Given the description of an element on the screen output the (x, y) to click on. 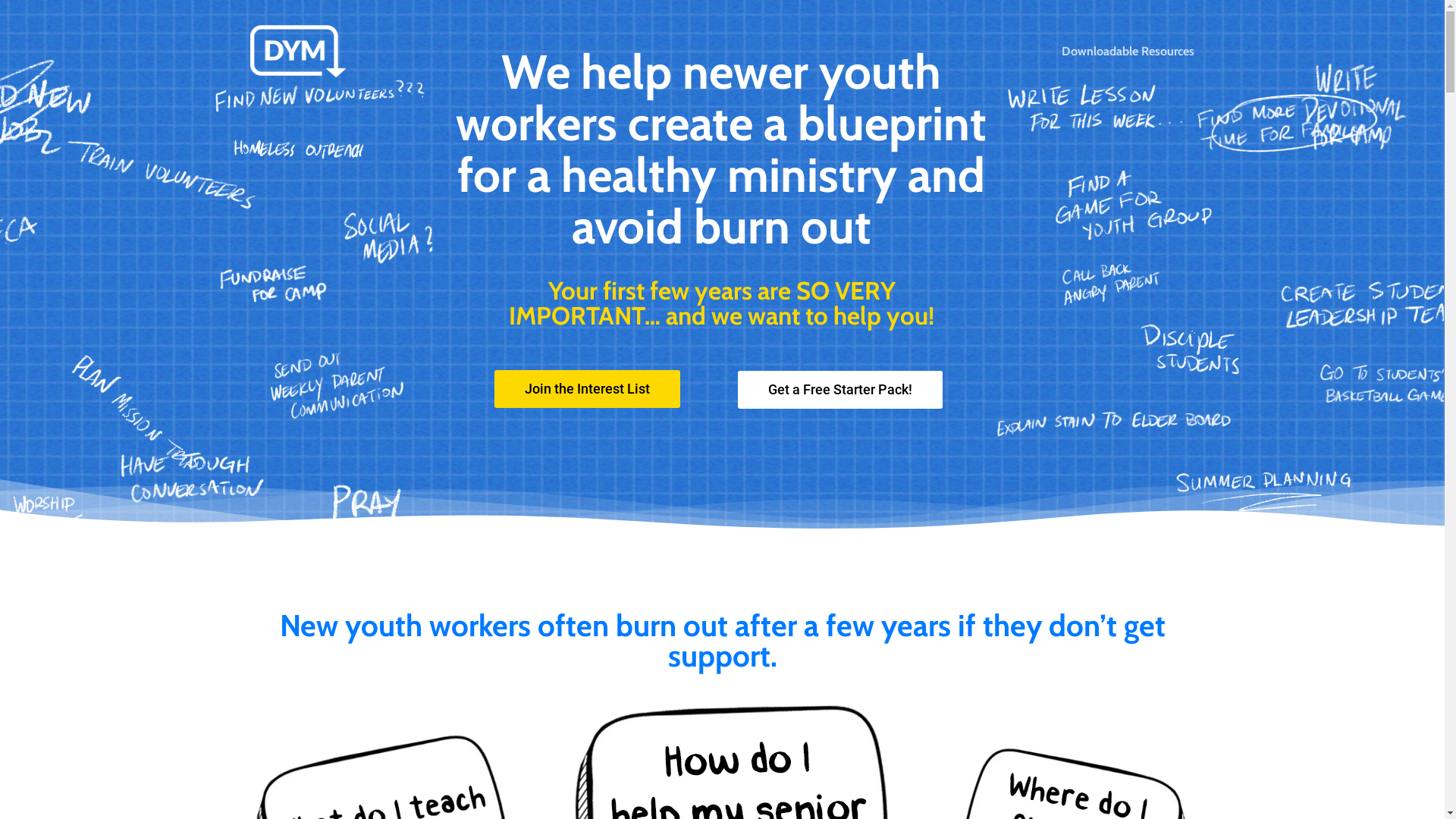
Downloadable Resources Element type: text (1127, 51)
